Given the description of an element on the screen output the (x, y) to click on. 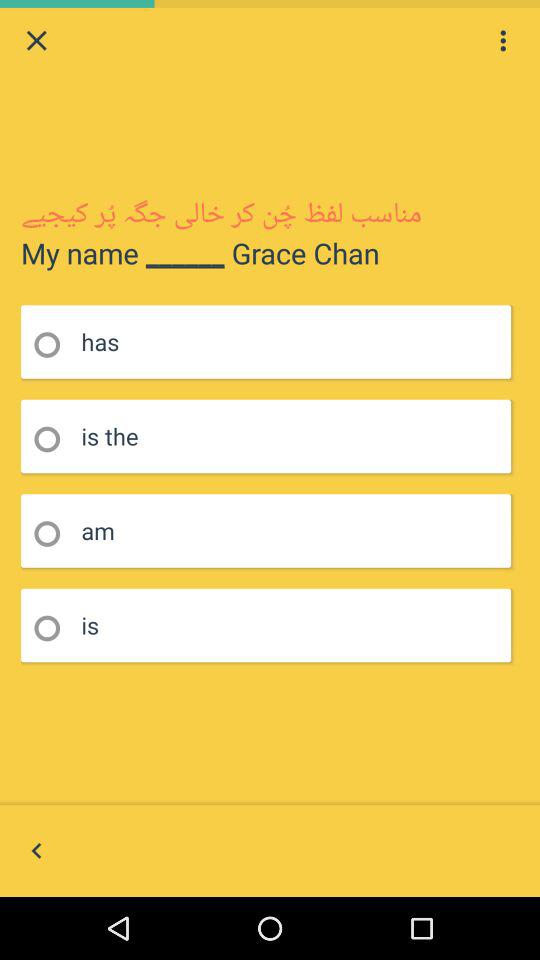
select 1st radio button (53, 344)
